Given the description of an element on the screen output the (x, y) to click on. 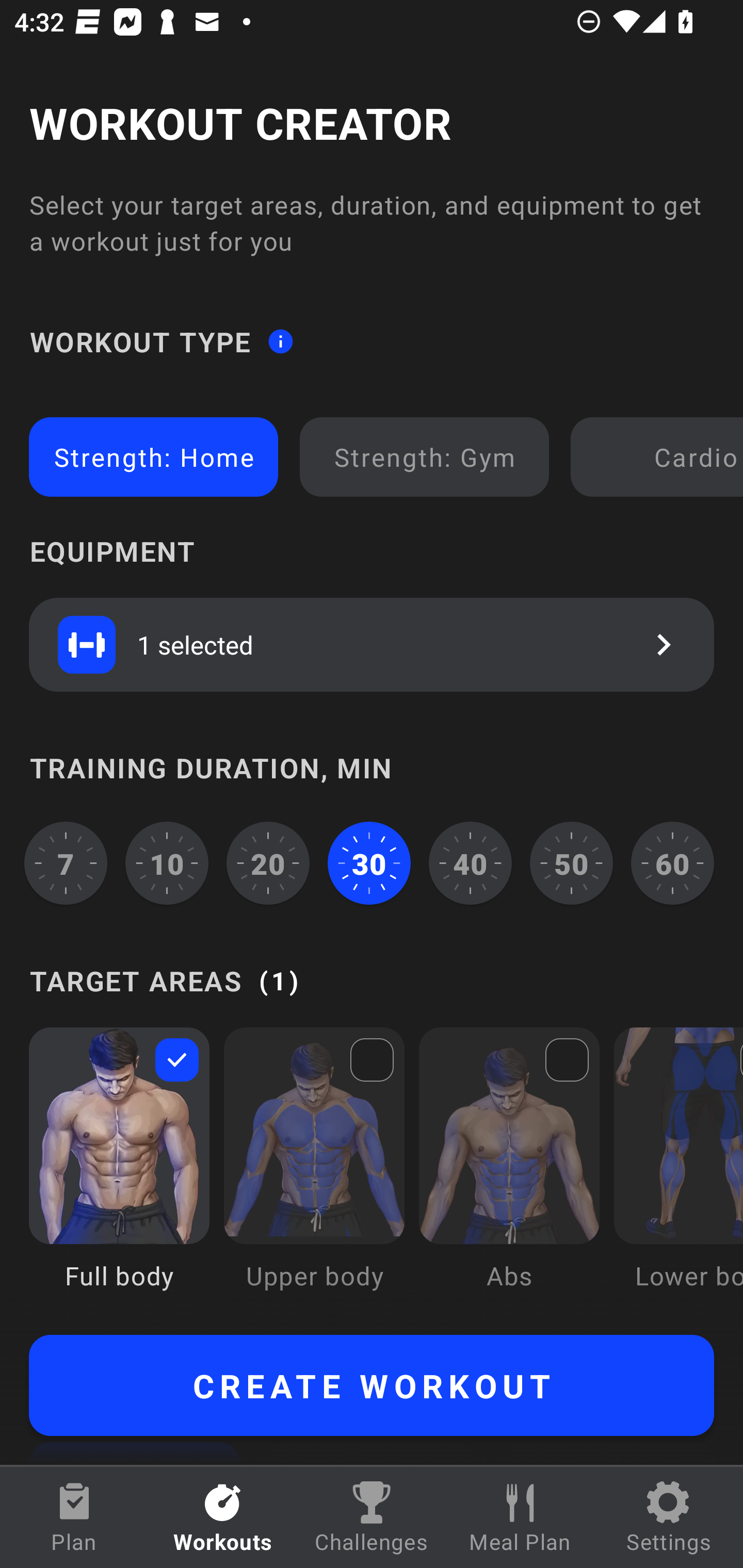
Workout type information button (280, 340)
Strength: Gym (423, 457)
Cardio (660, 457)
1 selected (371, 644)
7 (66, 862)
10 (167, 862)
20 (268, 862)
30 (369, 862)
40 (470, 862)
50 (571, 862)
60 (672, 862)
Upper body (313, 1172)
Abs (509, 1172)
Lower body (678, 1172)
CREATE WORKOUT (371, 1385)
 Plan  (74, 1517)
 Challenges  (371, 1517)
 Meal Plan  (519, 1517)
 Settings  (668, 1517)
